Given the description of an element on the screen output the (x, y) to click on. 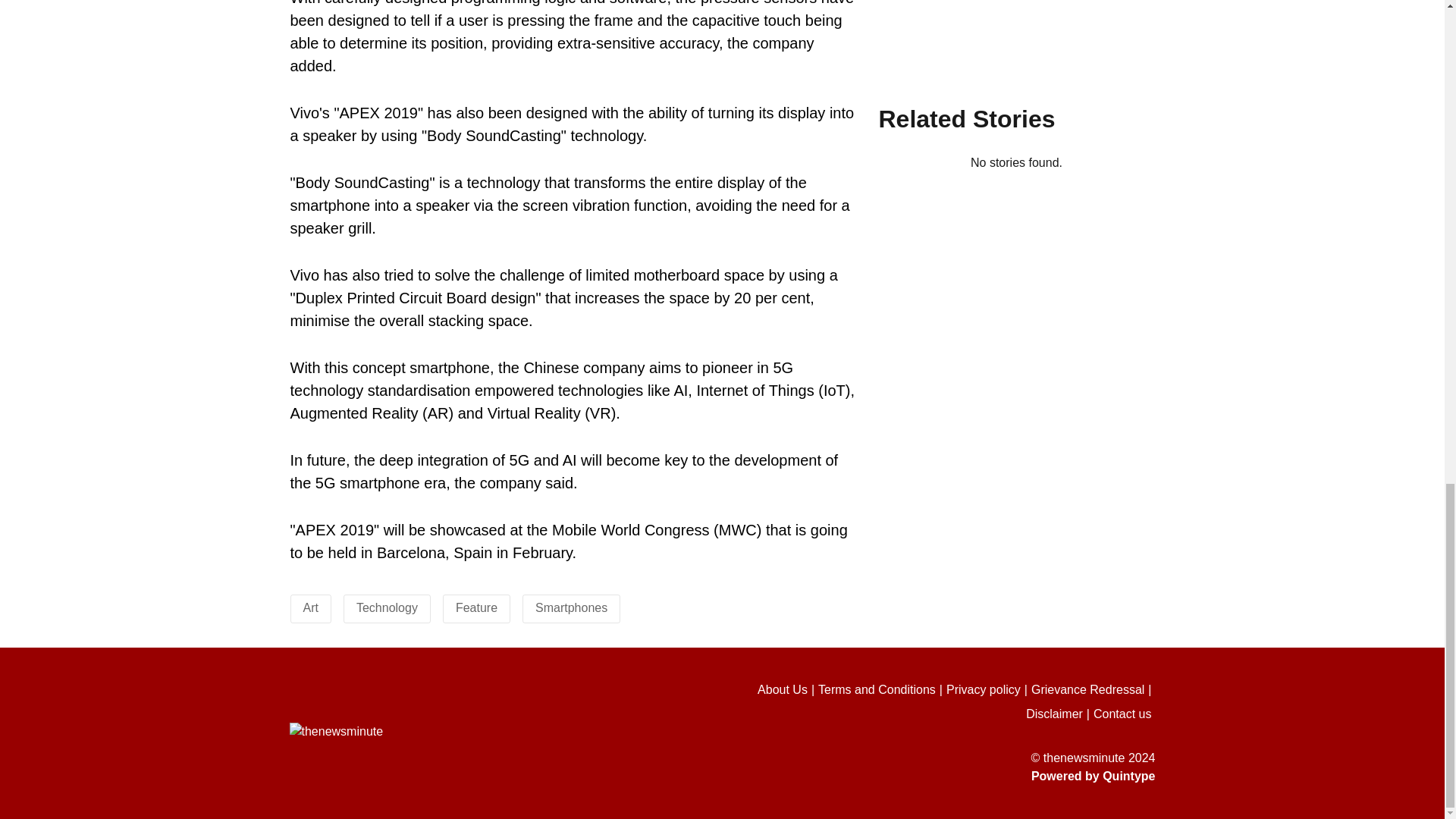
About Us (787, 689)
Privacy policy (988, 689)
Feature (476, 607)
Technology (386, 607)
Disclaimer (1059, 713)
Smartphones (571, 607)
Contact us (1123, 713)
Terms and Conditions (882, 689)
Art (310, 607)
Powered by Quintype (928, 776)
Grievance Redressal (1093, 689)
